Given the description of an element on the screen output the (x, y) to click on. 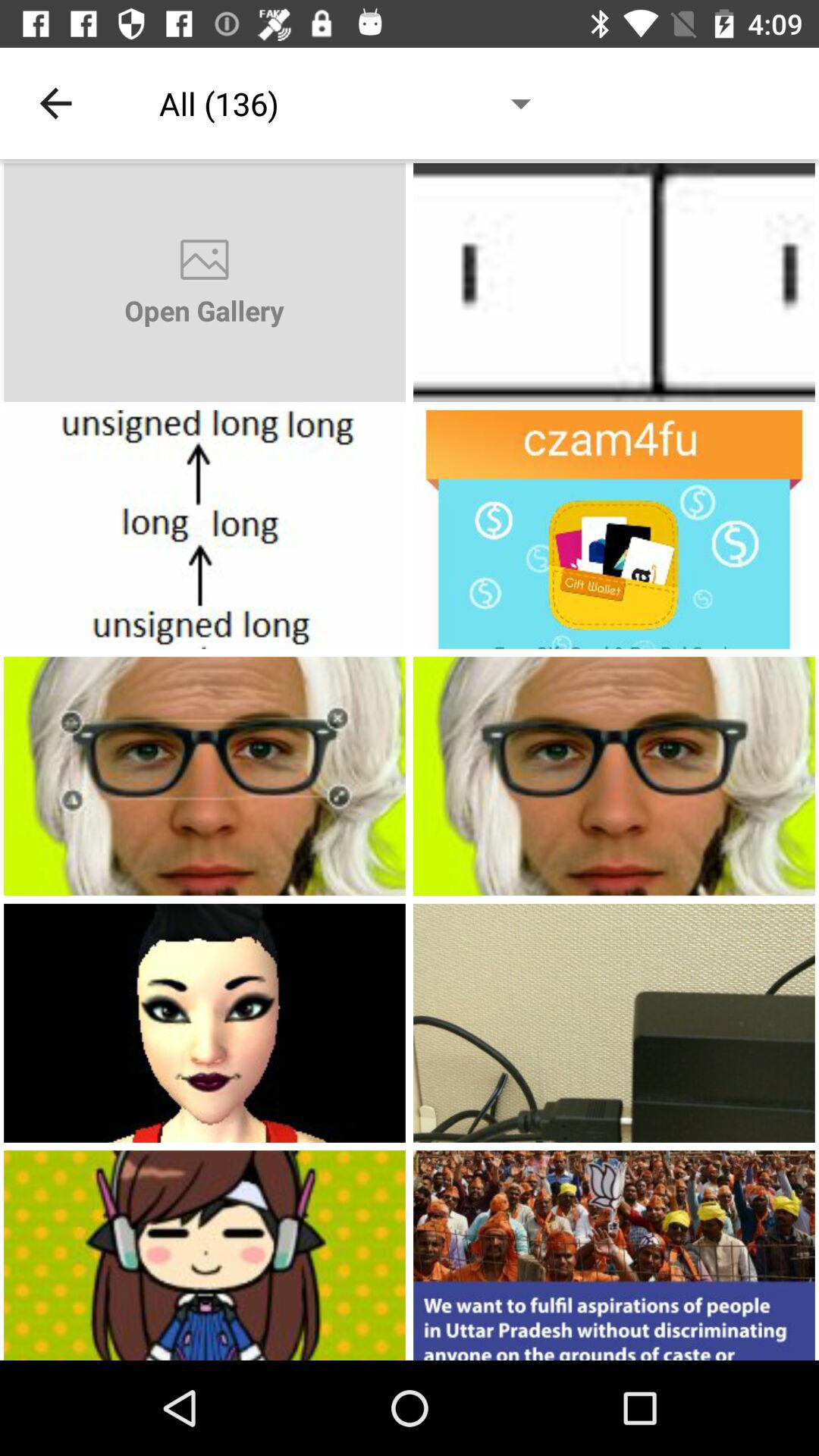
google page (204, 775)
